Given the description of an element on the screen output the (x, y) to click on. 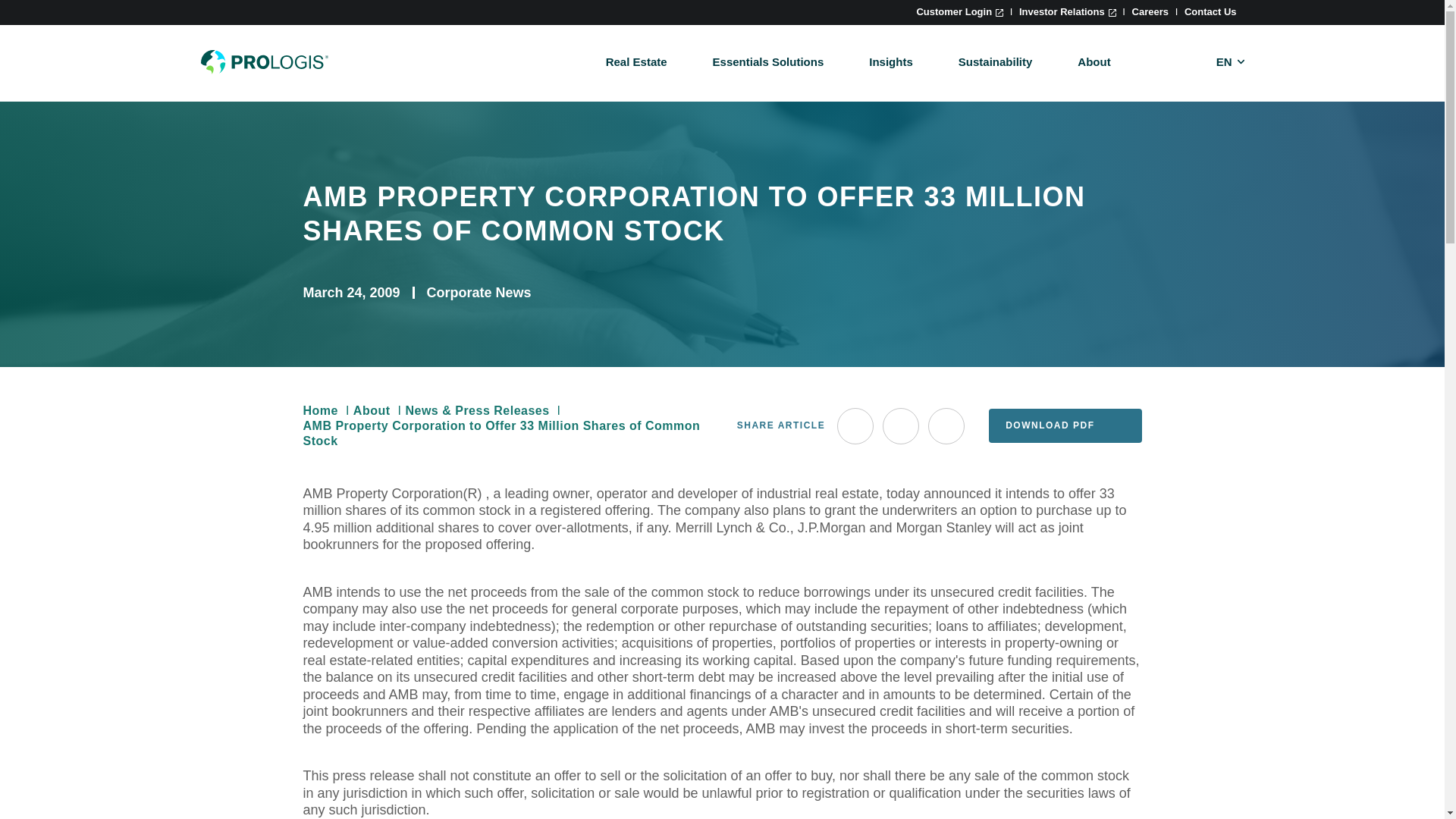
Careers (1150, 11)
Real Estate (635, 61)
Contact Us (1210, 11)
Insights (890, 61)
Careers (1150, 11)
Real Estate (635, 61)
Investor Relations (1067, 11)
Sustainability (995, 61)
Contact Us (1210, 11)
